Given the description of an element on the screen output the (x, y) to click on. 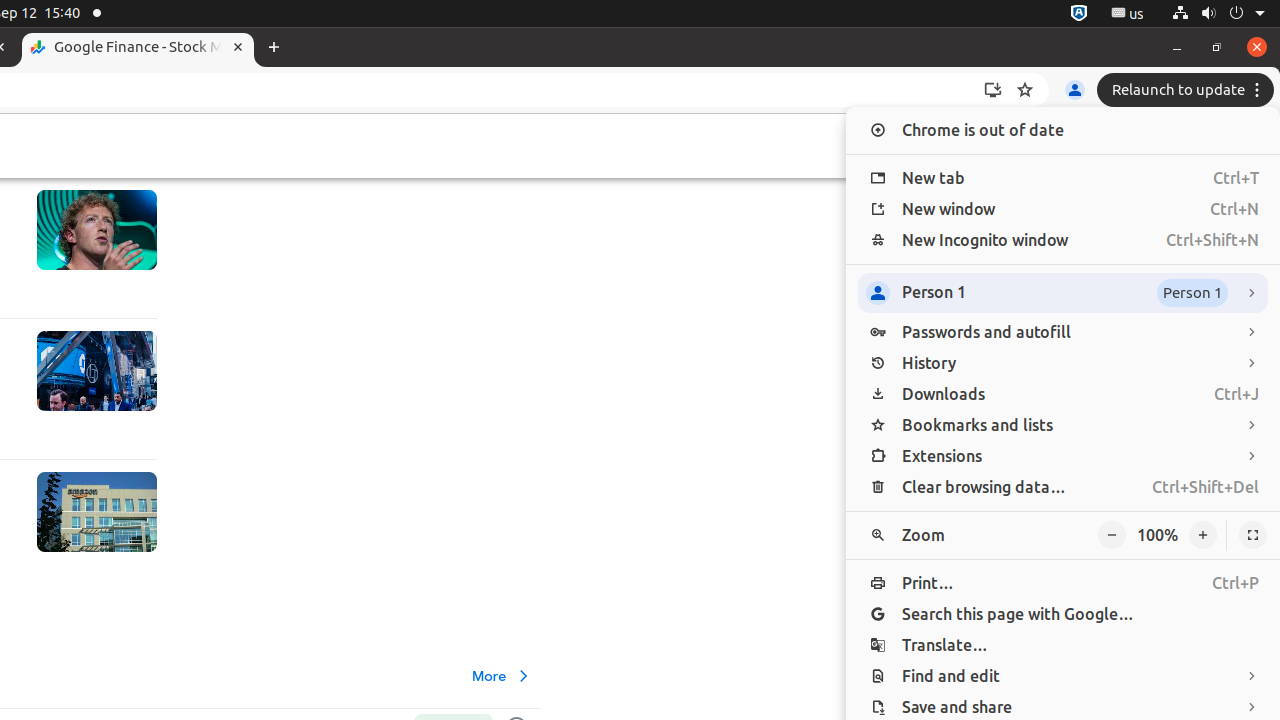
Extensions Element type: menu-item (1063, 456)
Chrome is out of date Element type: menu-item (1063, 130)
History Element type: menu-item (1063, 363)
Downloads Ctrl+J Element type: menu-item (1063, 394)
New Incognito window Ctrl+Shift+N Element type: menu-item (1063, 240)
